Given the description of an element on the screen output the (x, y) to click on. 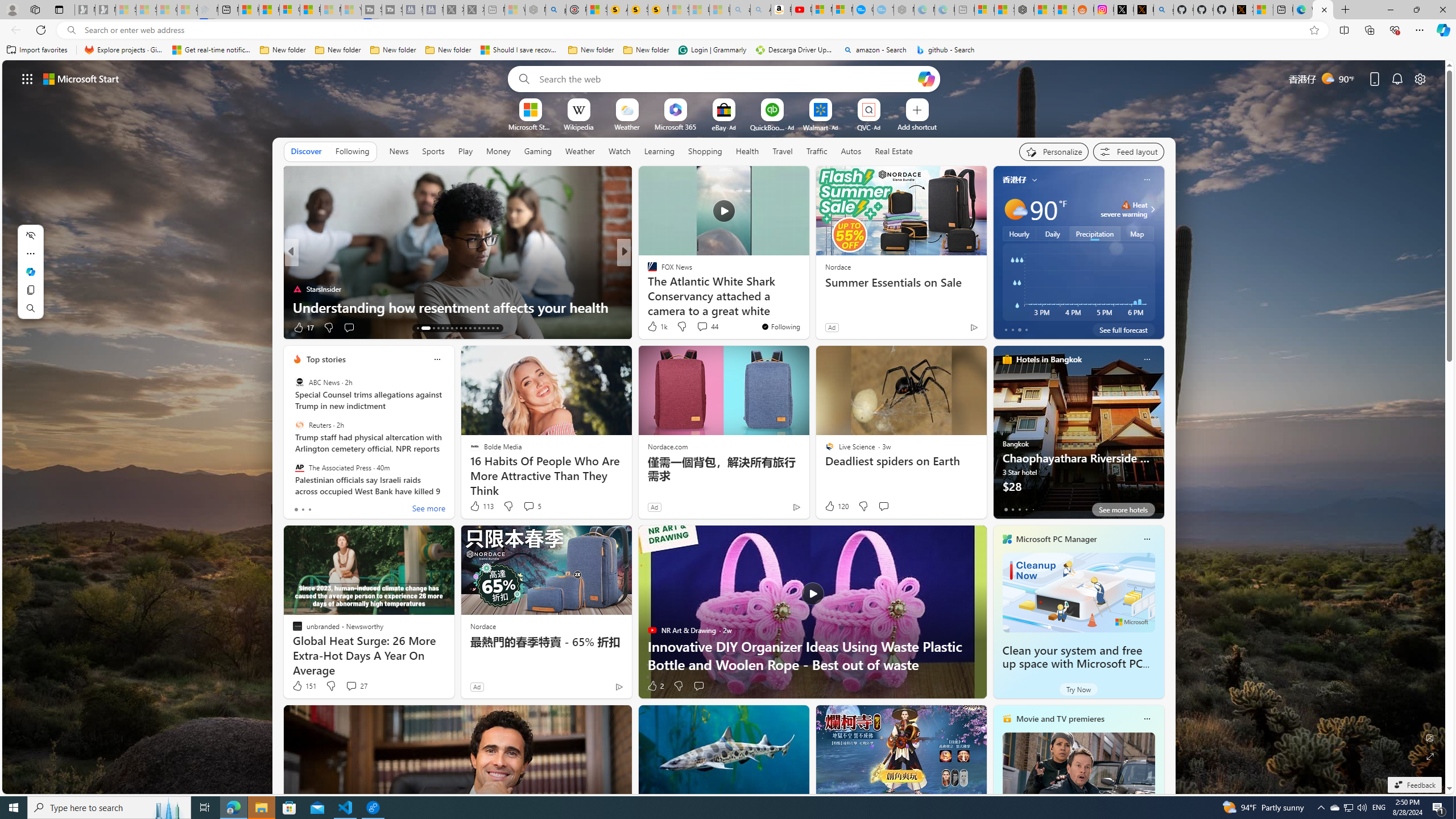
Microsoft 365 (675, 126)
Expand background (1430, 756)
Opinion: Op-Ed and Commentary - USA TODAY (862, 9)
View comments 44 Comment (706, 326)
Tribune News Service (647, 270)
Start the conversation (698, 685)
tab-0 (1005, 509)
Learning (658, 151)
Map (1137, 233)
Personalize your feed" (1054, 151)
Health (746, 151)
AutomationID: tab-20 (456, 328)
